Given the description of an element on the screen output the (x, y) to click on. 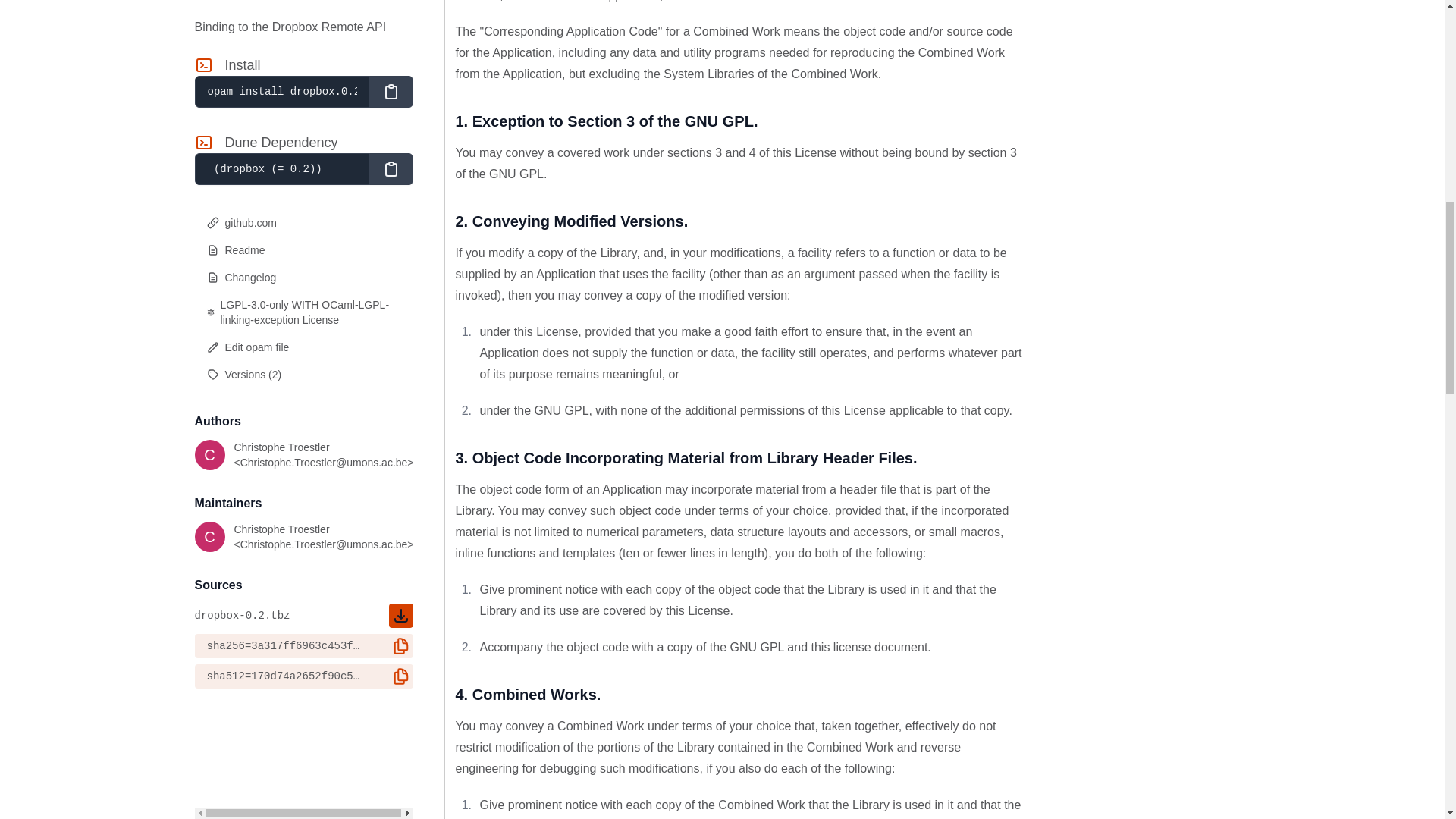
copy checksum to clipboard (400, 12)
